Given the description of an element on the screen output the (x, y) to click on. 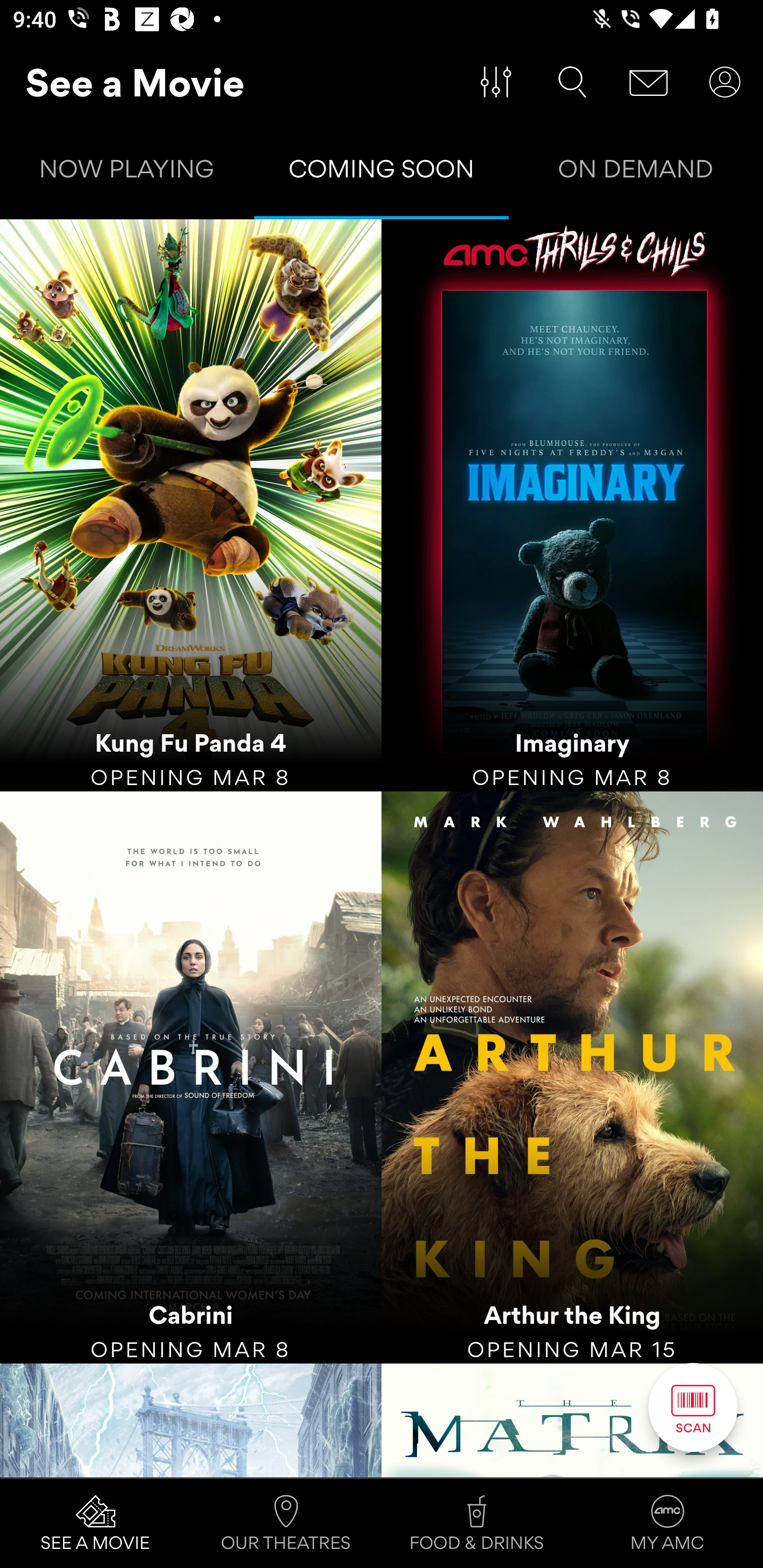
Filter Movies (495, 82)
Search (572, 82)
Message Center (648, 82)
User Account (724, 82)
NOW PLAYING
Tab 1 of 3 (127, 173)
COMING SOON
Tab 2 of 3 (381, 173)
ON DEMAND
Tab 3 of 3 (635, 173)
Kung Fu Panda 4
OPENING MAR 8 (190, 505)
Imaginary
OPENING MAR 8 (572, 505)
Cabrini
OPENING MAR 8 (190, 1077)
Arthur the King
OPENING MAR 15 (572, 1077)
Scan Button (692, 1406)
SEE A MOVIE
Tab 1 of 4 (95, 1523)
OUR THEATRES
Tab 2 of 4 (285, 1523)
FOOD & DRINKS
Tab 3 of 4 (476, 1523)
MY AMC
Tab 4 of 4 (667, 1523)
